Given the description of an element on the screen output the (x, y) to click on. 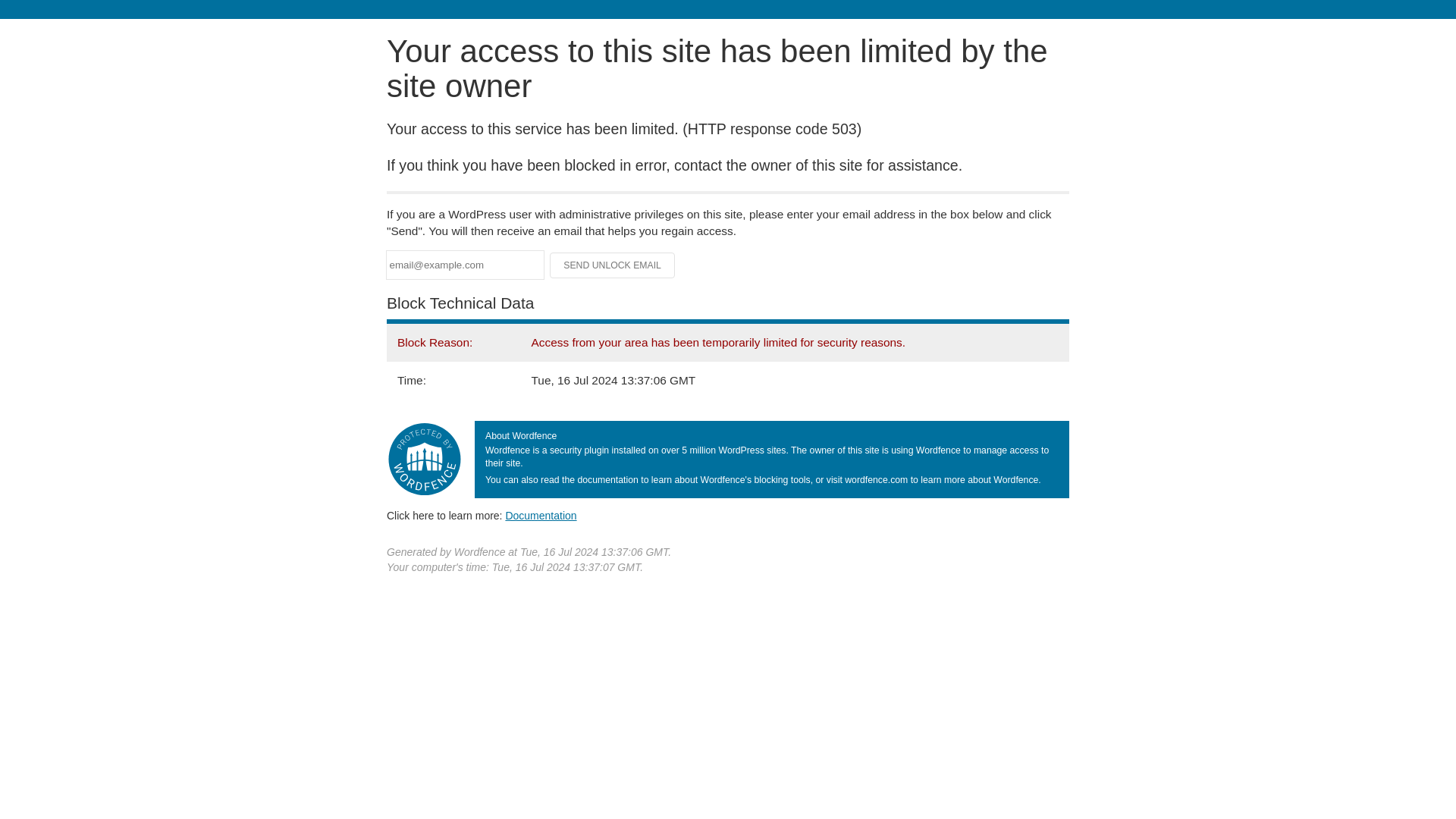
Send Unlock Email (612, 265)
Send Unlock Email (612, 265)
Documentation (540, 515)
